Given the description of an element on the screen output the (x, y) to click on. 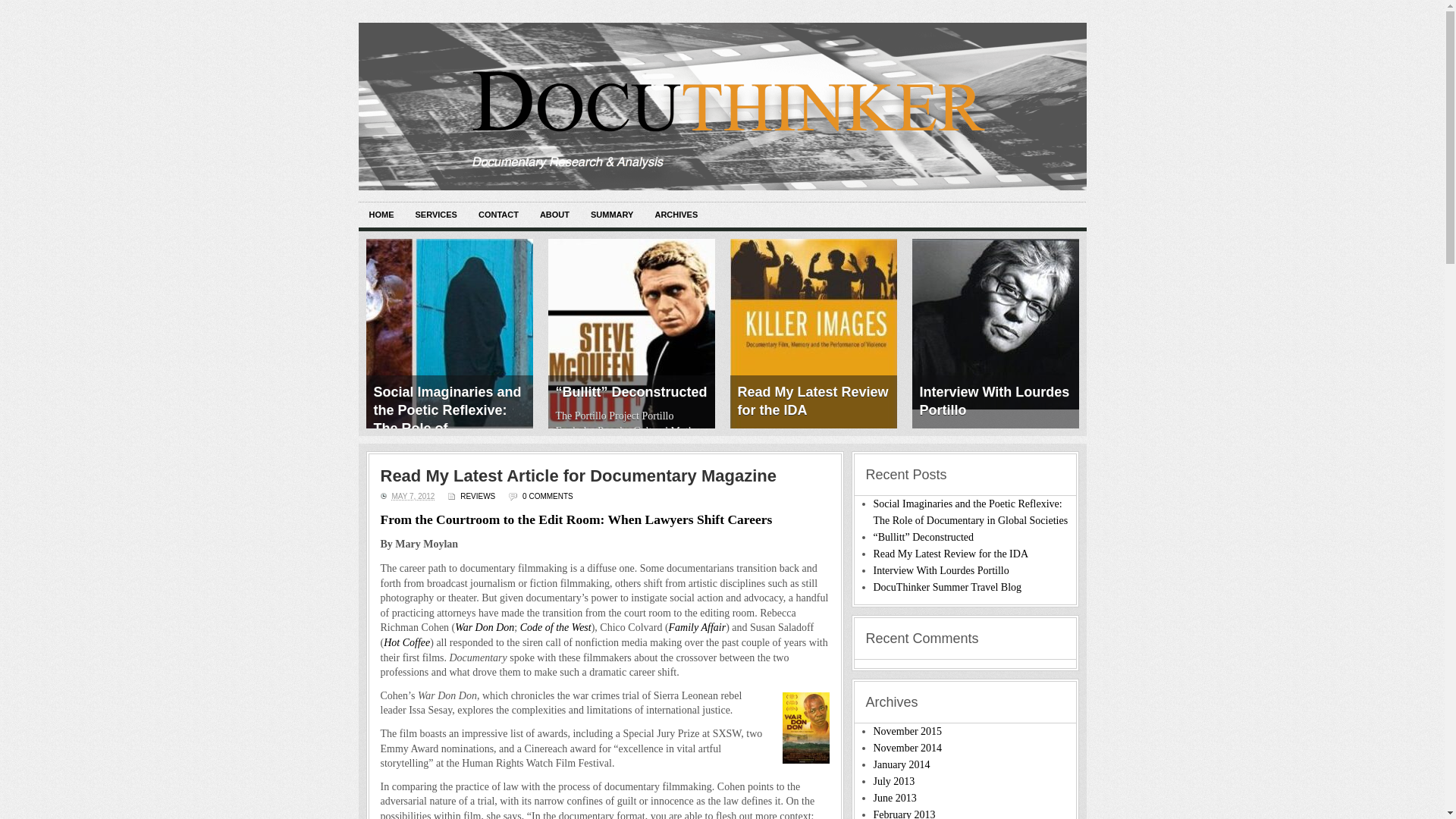
0 COMMENTS (547, 496)
ARCHIVES (675, 215)
Family Affair (697, 627)
January 2014 (901, 764)
4:44 am (412, 496)
HOME (381, 215)
February 2013 (904, 814)
November 2014 (907, 747)
